Given the description of an element on the screen output the (x, y) to click on. 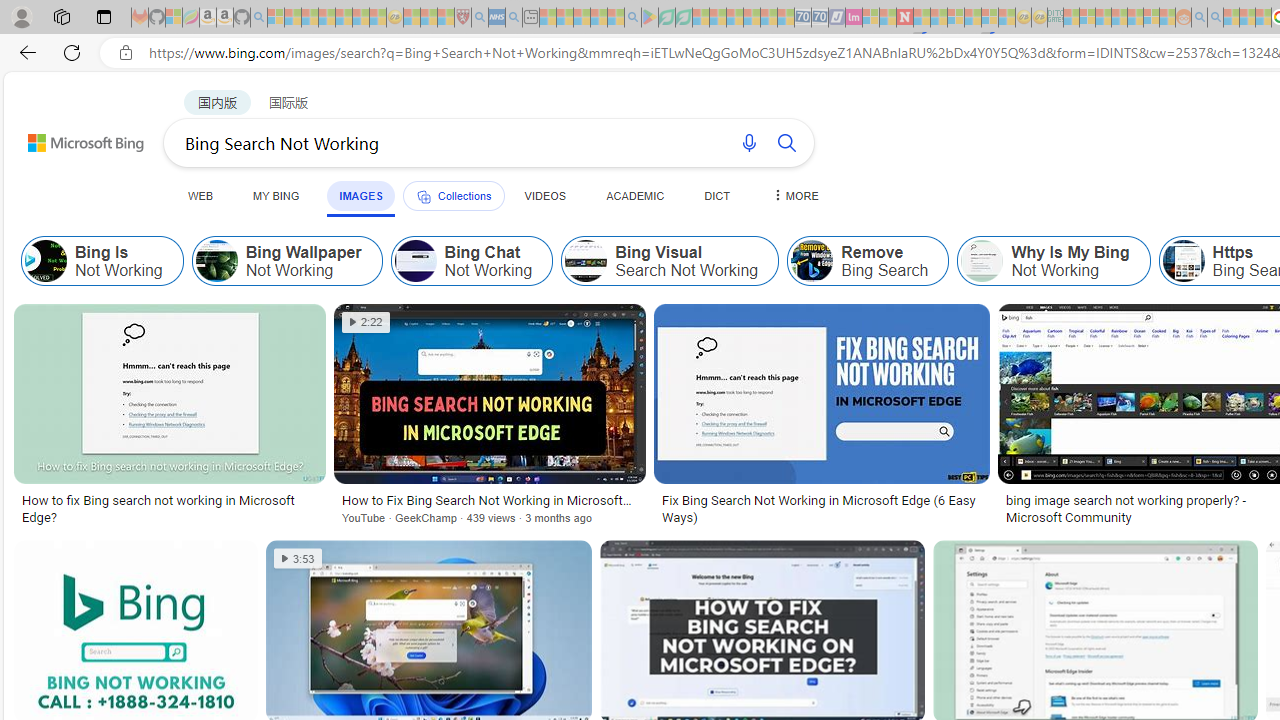
Bing Is Not Working (102, 260)
DICT (717, 195)
2:22 (365, 322)
Bing Is Not Working (45, 260)
